Given the description of an element on the screen output the (x, y) to click on. 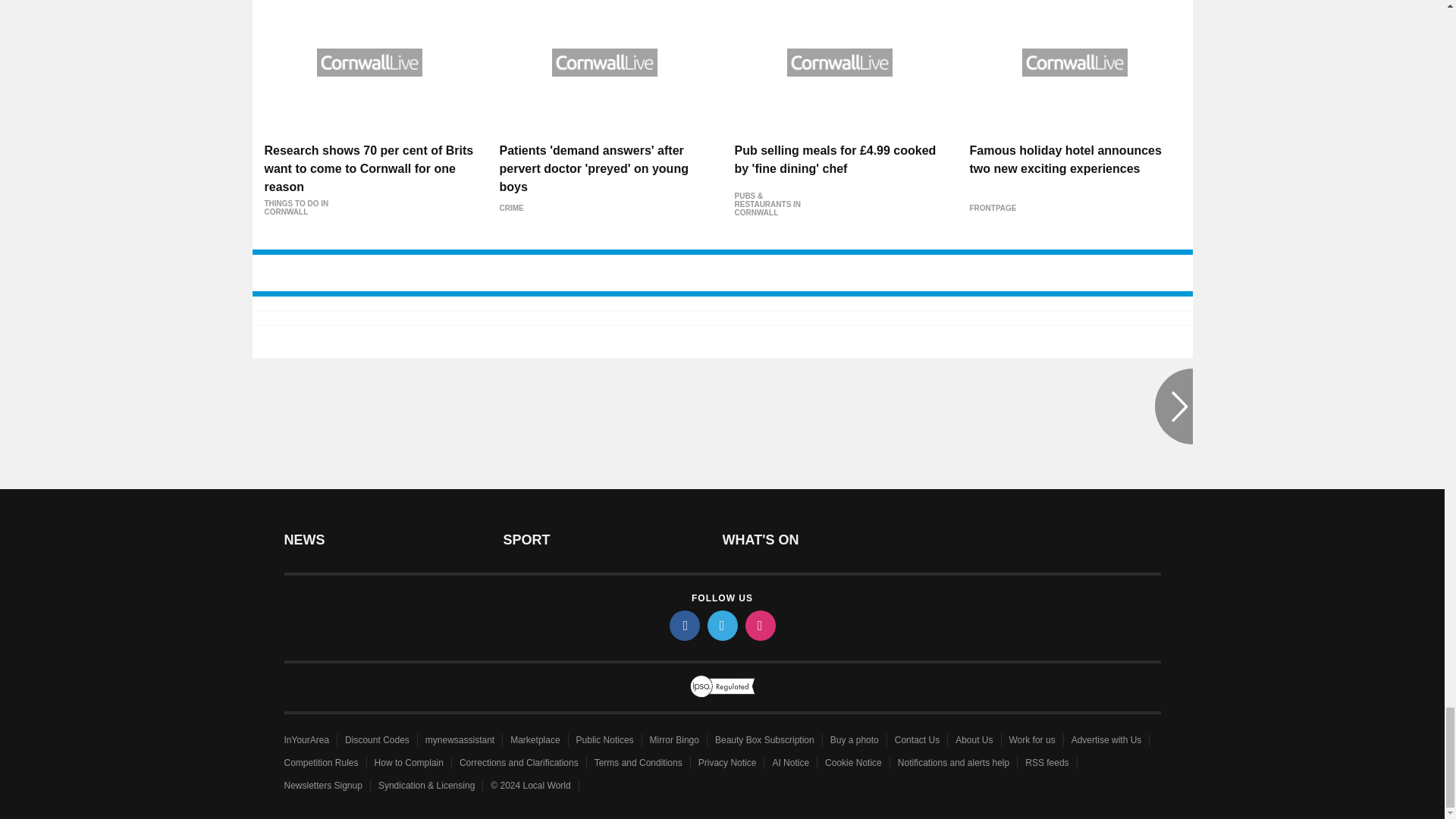
facebook (683, 625)
twitter (721, 625)
instagram (759, 625)
